Given the description of an element on the screen output the (x, y) to click on. 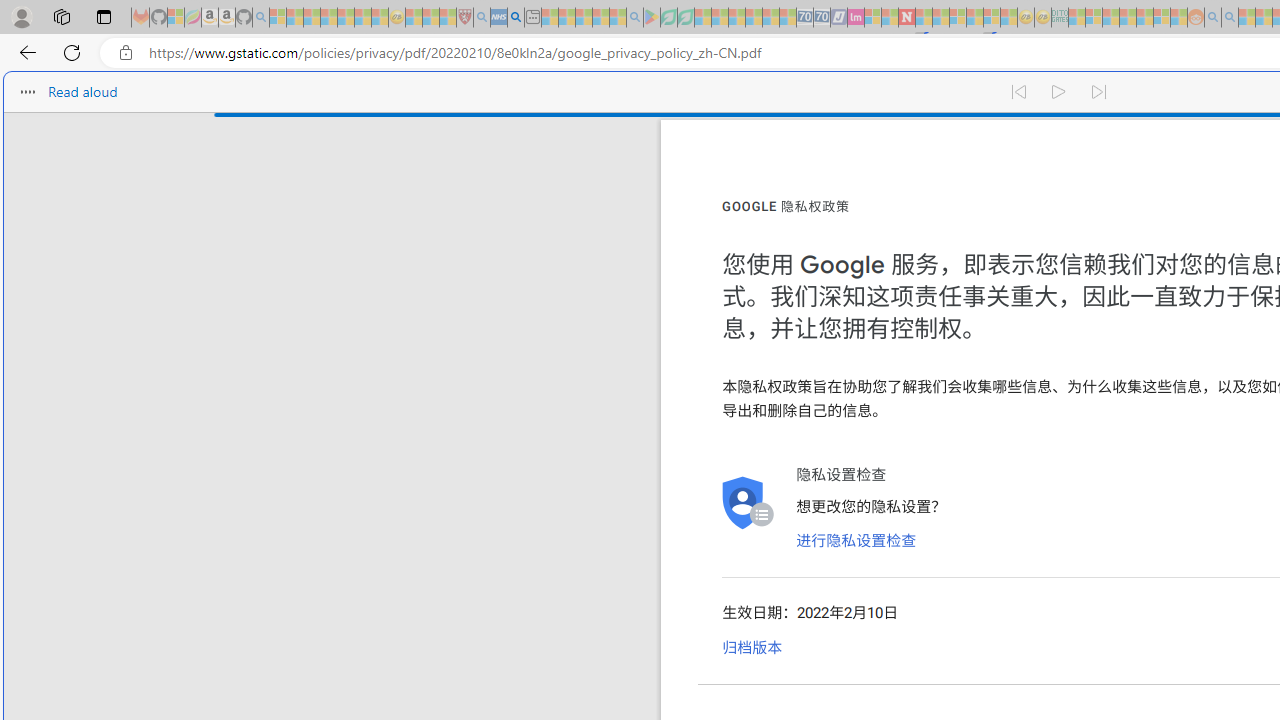
utah sues federal government - Search (515, 17)
Local - MSN - Sleeping (447, 17)
Read next paragraph (1099, 92)
